Given the description of an element on the screen output the (x, y) to click on. 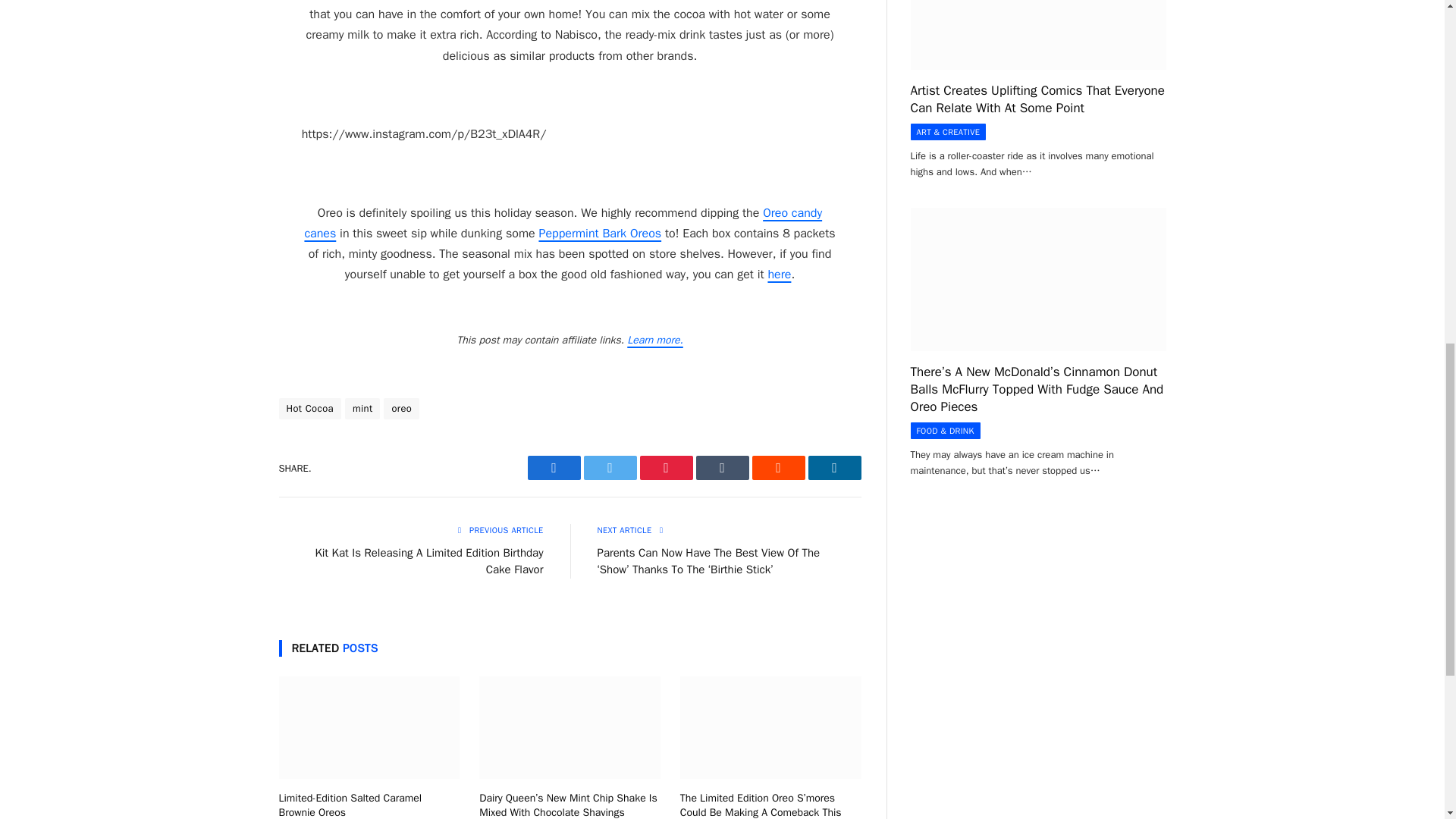
here (778, 273)
Peppermint Bark Oreos (599, 233)
Oreo candy canes (563, 222)
